Given the description of an element on the screen output the (x, y) to click on. 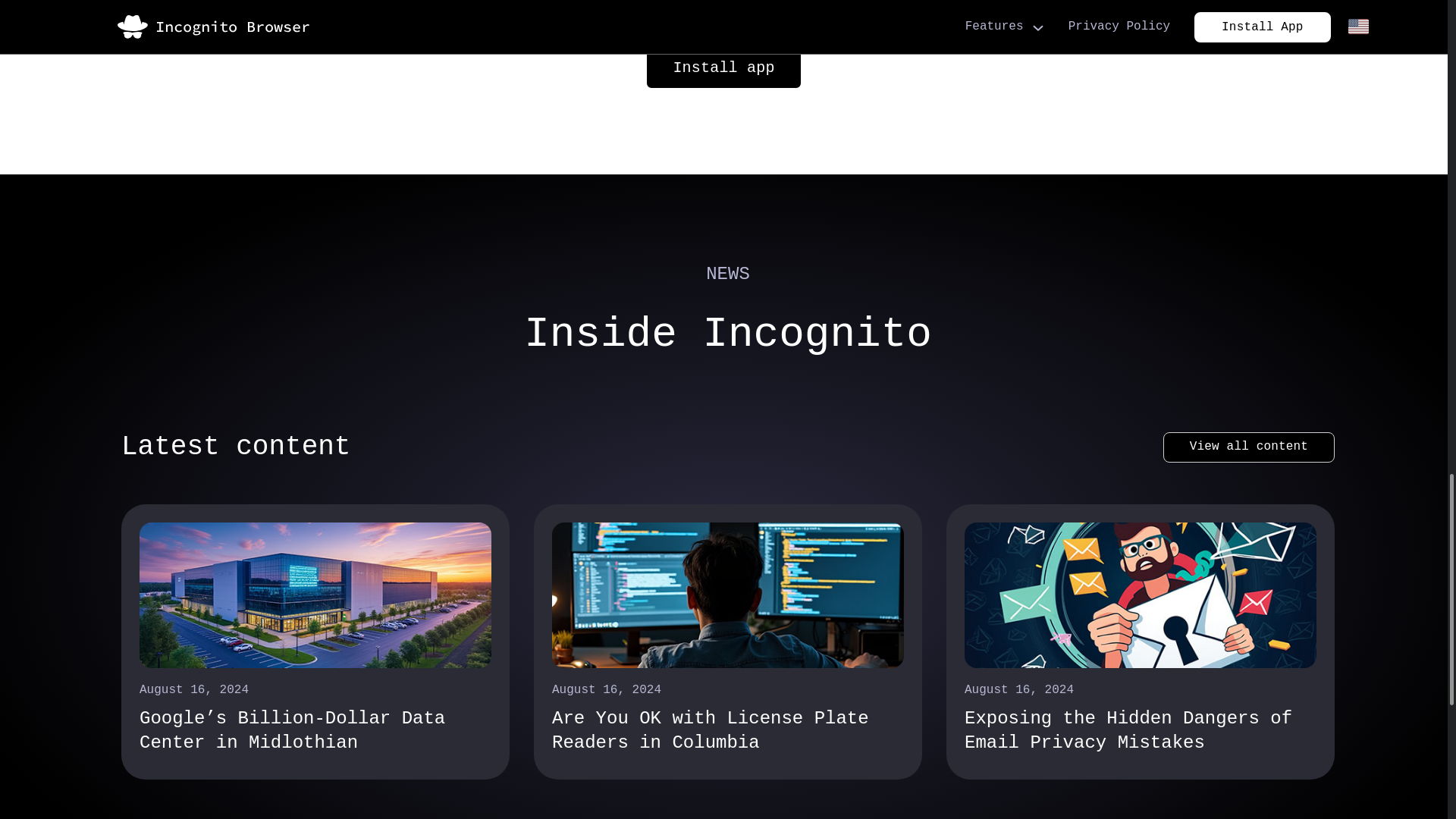
Exposing the Hidden Dangers of Email Privacy Mistakes (1139, 729)
Are You OK with License Plate Readers in Columbia (727, 729)
Install app (723, 67)
Inside Incognito (727, 334)
View all content (1249, 447)
